Given the description of an element on the screen output the (x, y) to click on. 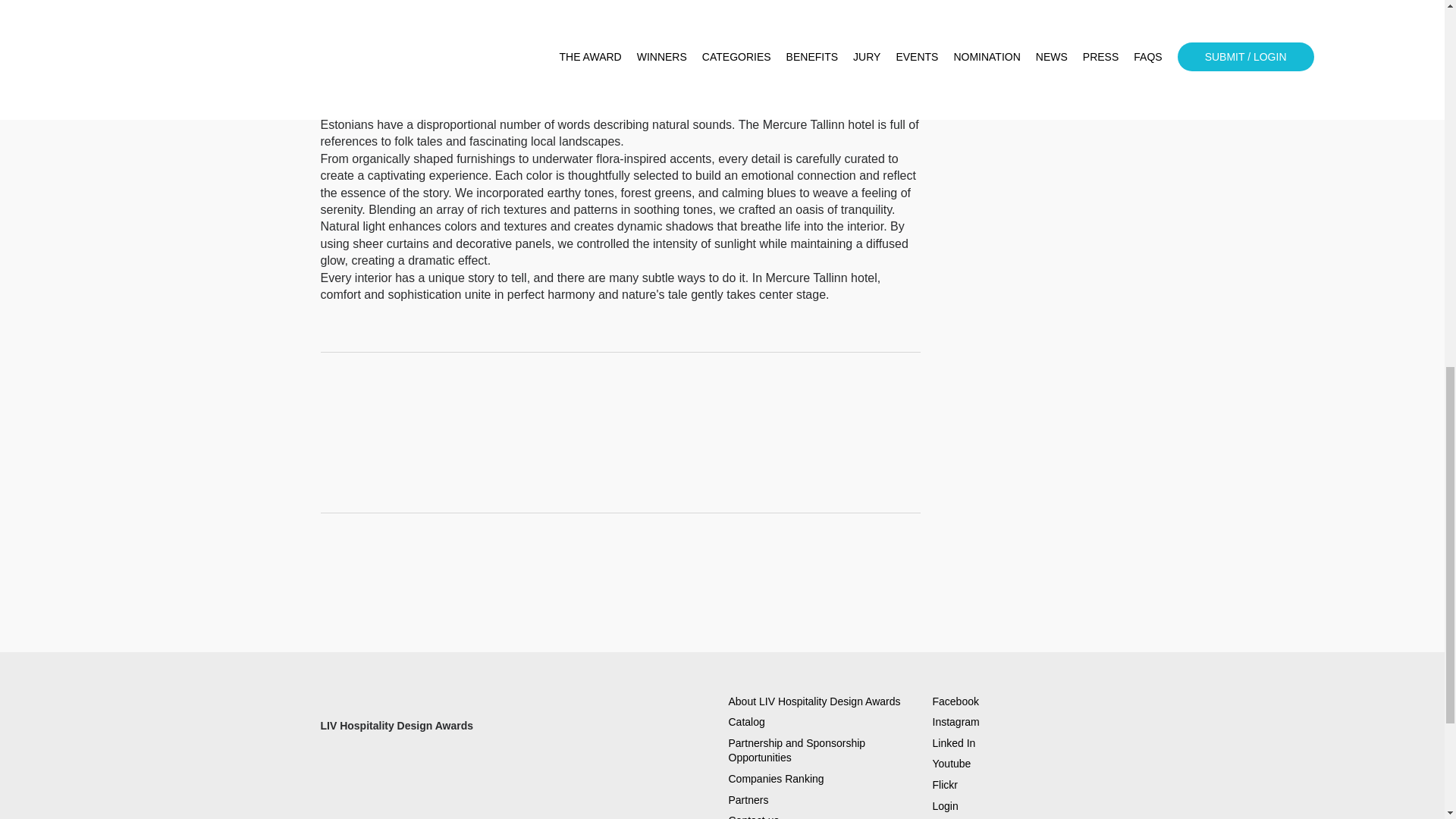
Instagram (956, 721)
Youtube (952, 763)
Login (945, 805)
Companies Ranking (776, 778)
Contact us (753, 816)
Partners (748, 799)
Flickr (945, 784)
Partnership and Sponsorship Opportunities (796, 750)
Linked In (954, 743)
Catalog (746, 721)
